Given the description of an element on the screen output the (x, y) to click on. 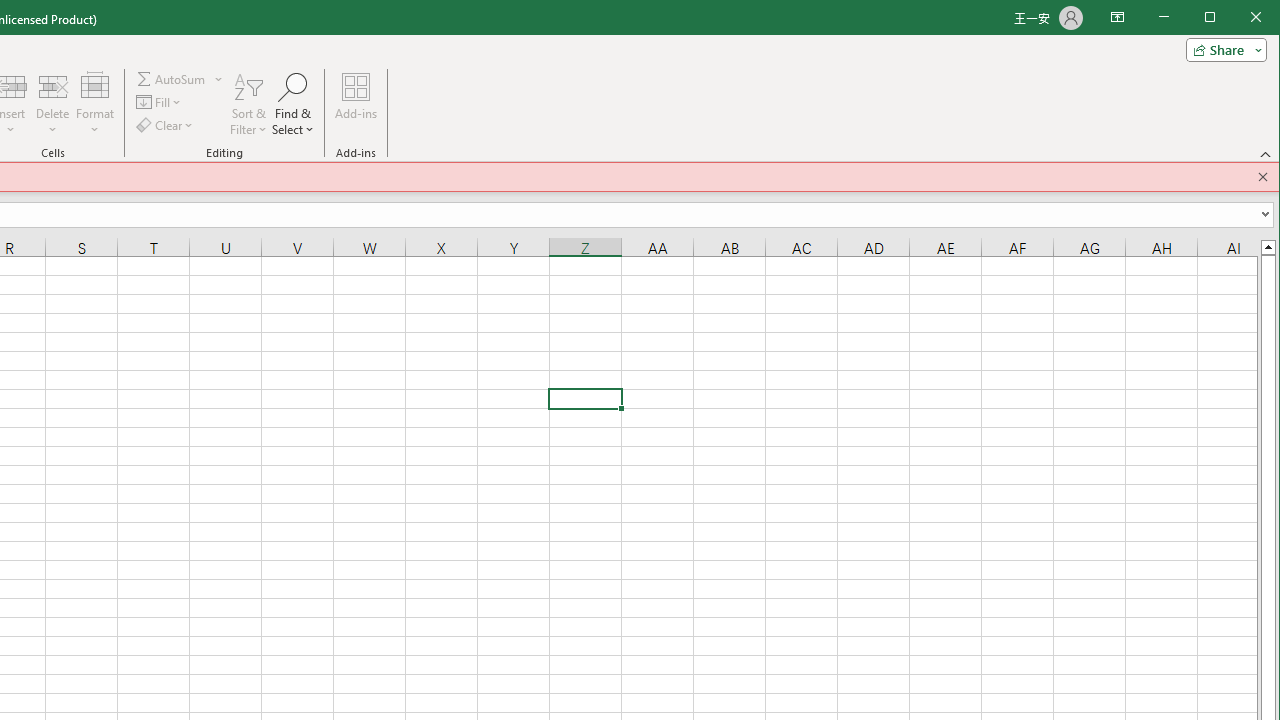
Fill (160, 101)
Delete Cells... (53, 86)
Delete (53, 104)
Sort & Filter (248, 104)
Sum (172, 78)
Close this message (1263, 176)
AutoSum (180, 78)
Find & Select (293, 104)
